Given the description of an element on the screen output the (x, y) to click on. 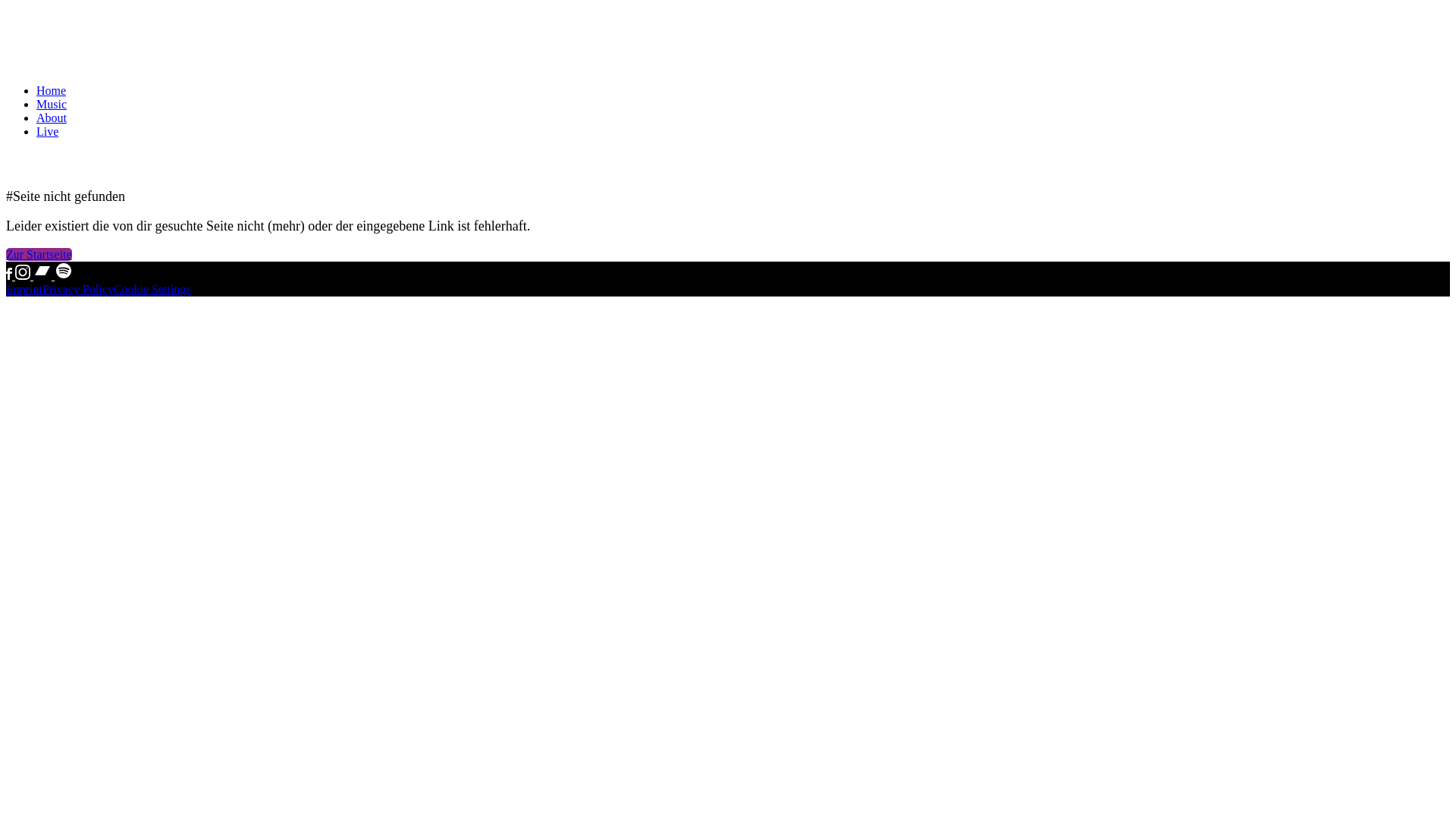
Home Element type: text (50, 90)
Cookie Settings Element type: text (152, 288)
About Element type: text (51, 117)
Live Element type: text (47, 131)
Music Element type: text (51, 103)
Privacy Policy Element type: text (77, 288)
Imprint Element type: text (24, 288)
Zur Startseite Element type: text (39, 253)
